Given the description of an element on the screen output the (x, y) to click on. 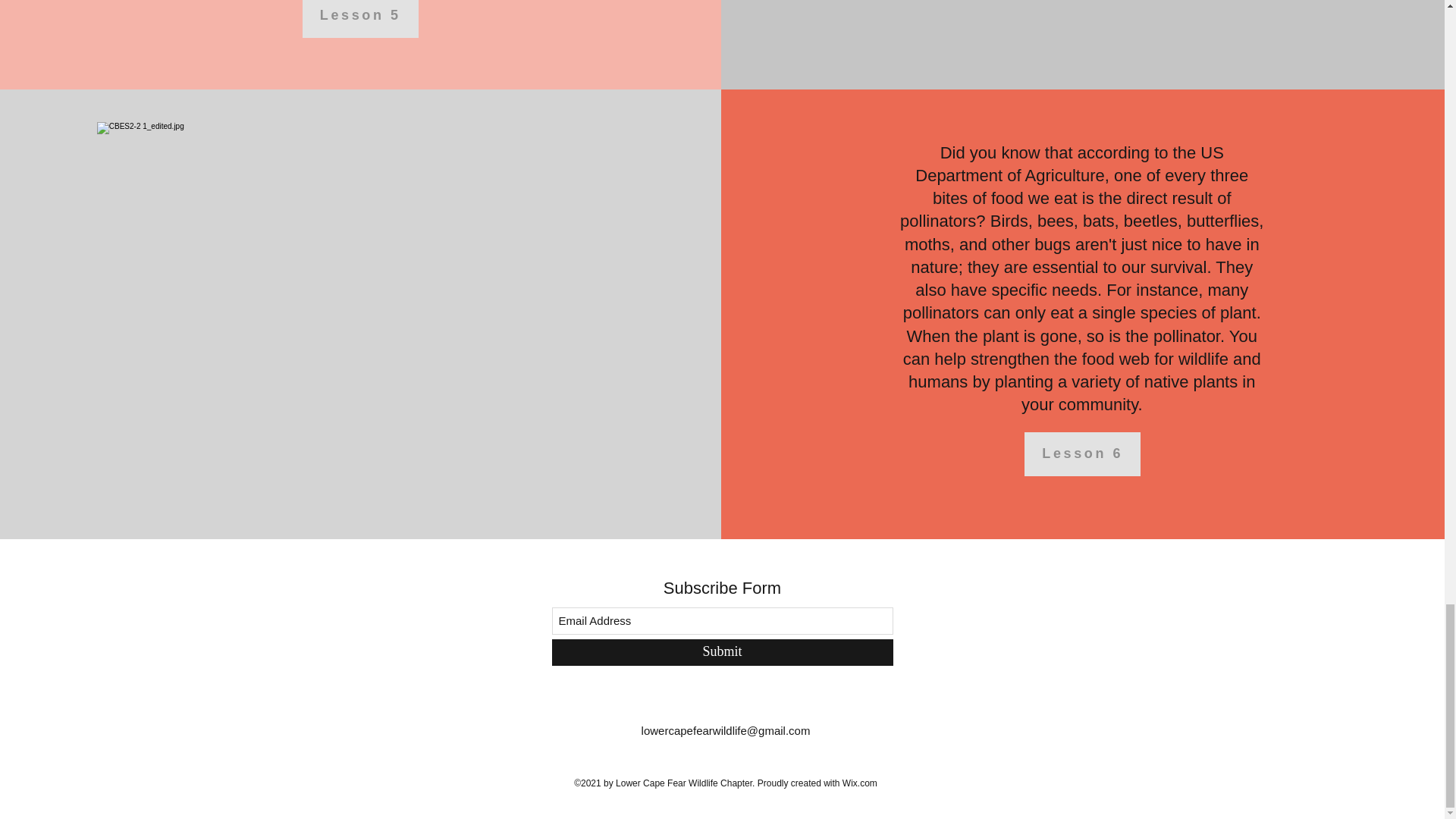
Submit (722, 652)
Lesson 6 (1082, 453)
Lesson 5 (360, 18)
